Given the description of an element on the screen output the (x, y) to click on. 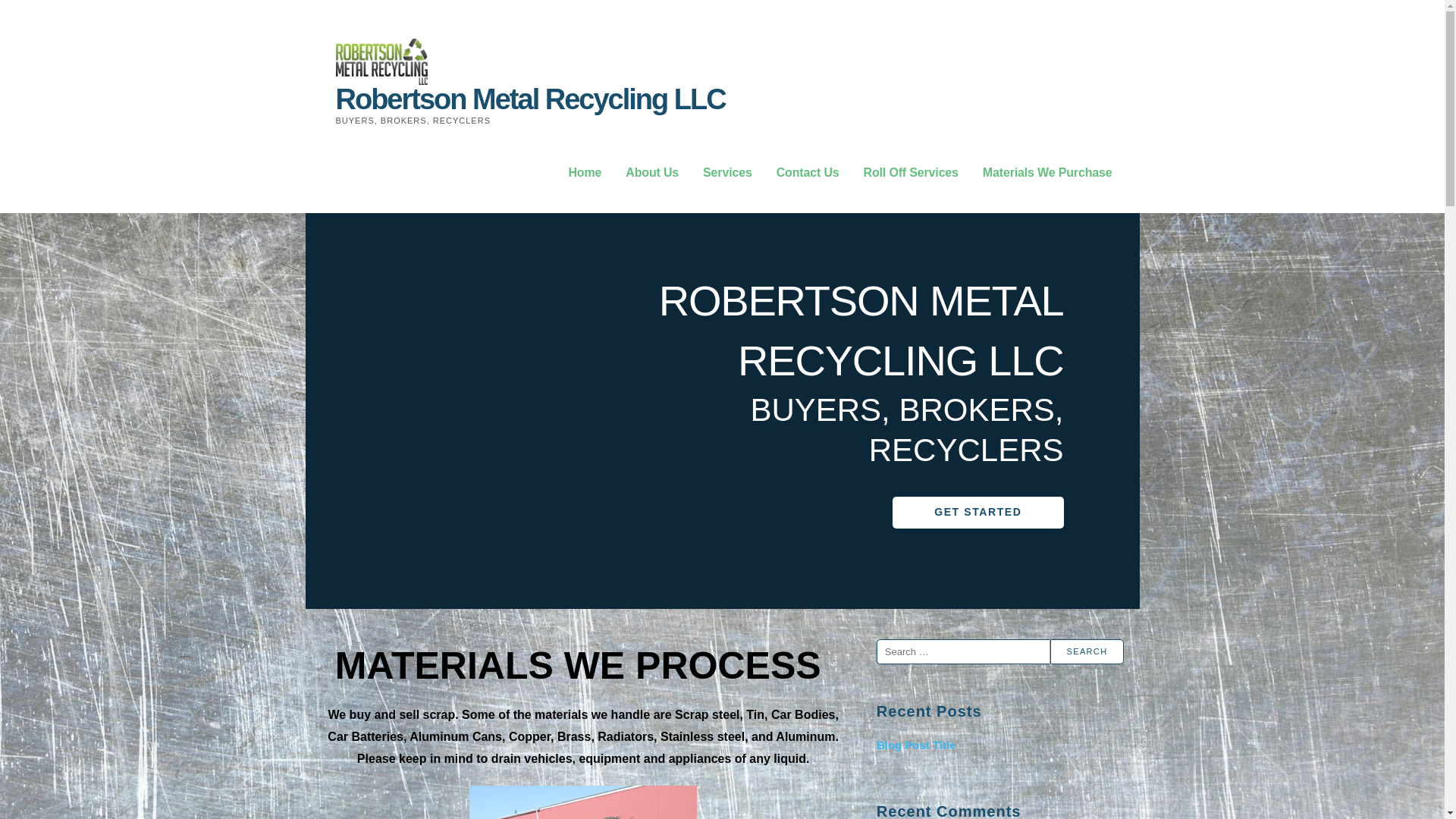
GET STARTED (977, 512)
About Us (652, 173)
Roll Off Services (910, 173)
Materials We Purchase (1047, 173)
Search (1086, 651)
Contact Us (808, 173)
Robertson Metal Recycling LLC (529, 99)
Home (584, 173)
Search (1086, 651)
Services (727, 173)
